Given the description of an element on the screen output the (x, y) to click on. 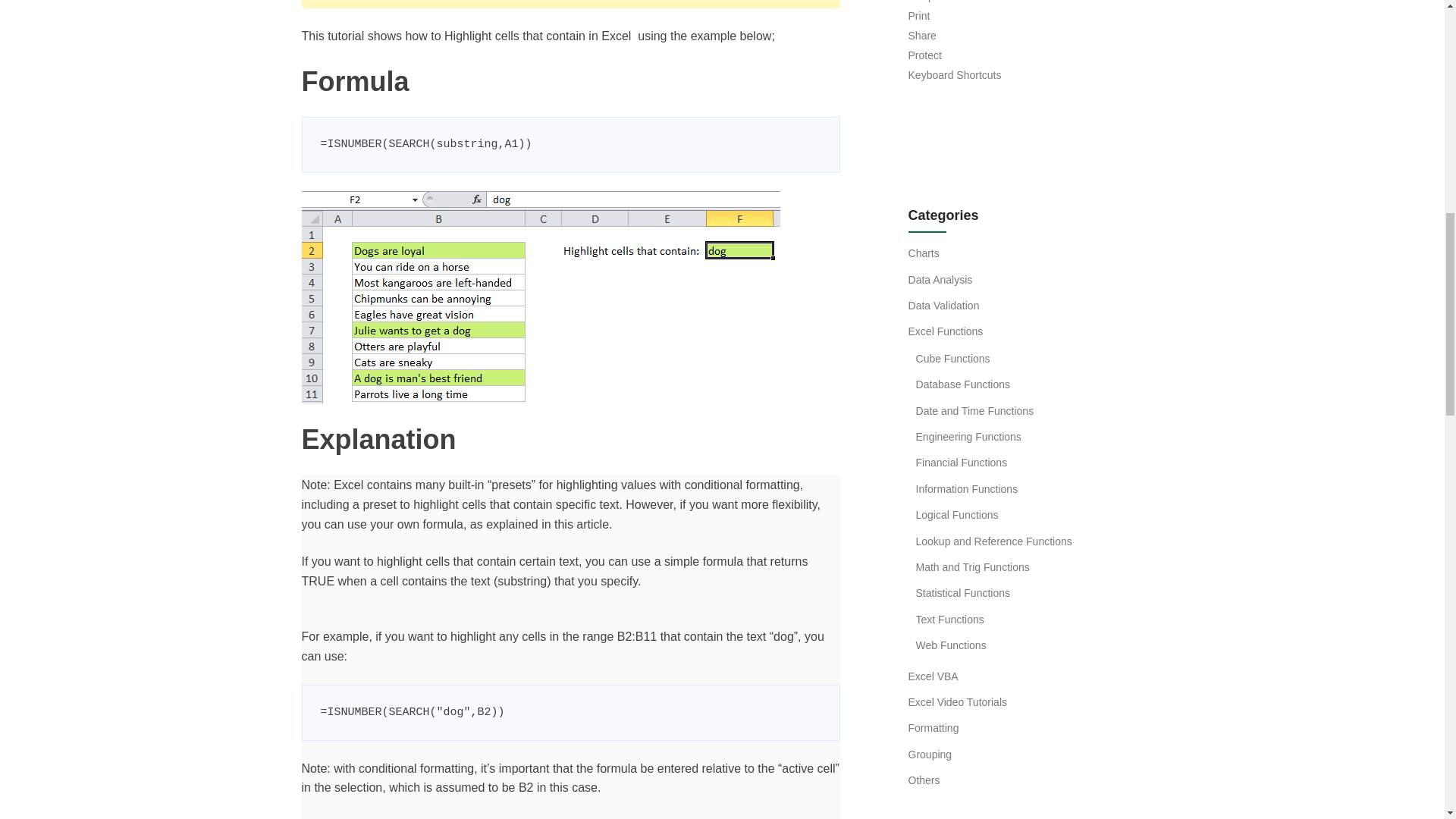
Advertisement (570, 3)
Protect (925, 55)
Keyboard Shortcuts (954, 74)
Templates (932, 1)
Share (922, 35)
Print (919, 15)
Charts (923, 253)
